Given the description of an element on the screen output the (x, y) to click on. 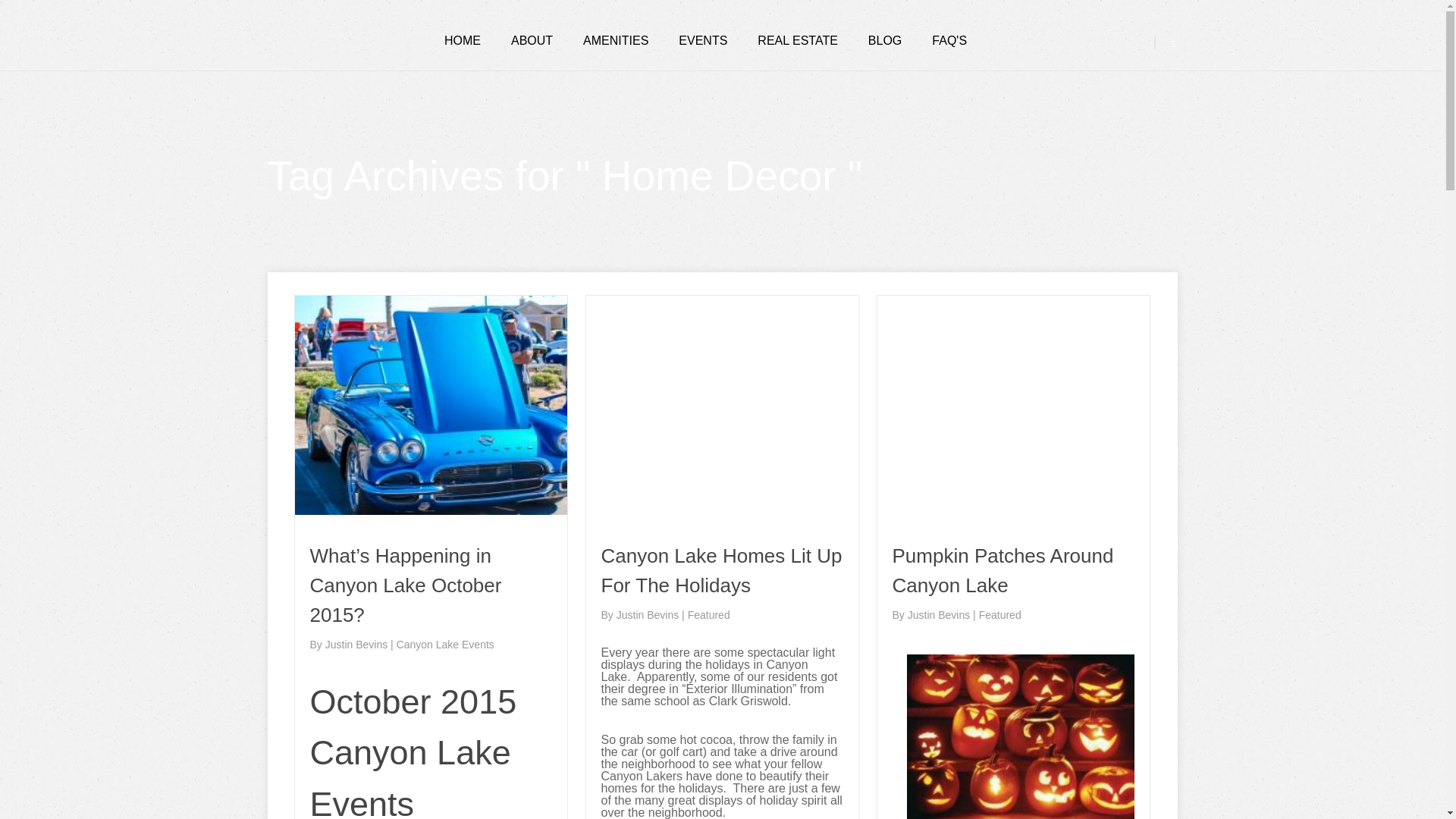
AMENITIES (615, 40)
Justin Bevins (357, 644)
Featured (708, 613)
Canyon Lake Homes Lit Up For The Holidays (720, 570)
Justin Bevins (939, 613)
EVENTS (702, 40)
REAL ESTATE (797, 40)
Featured (1000, 613)
ABOUT (532, 40)
BLOG (884, 40)
Justin Bevins (648, 613)
HOME (462, 40)
Canyon Lake Events (445, 644)
FAQ'S (948, 40)
Pumpkin Patches Around Canyon Lake (1002, 570)
